Given the description of an element on the screen output the (x, y) to click on. 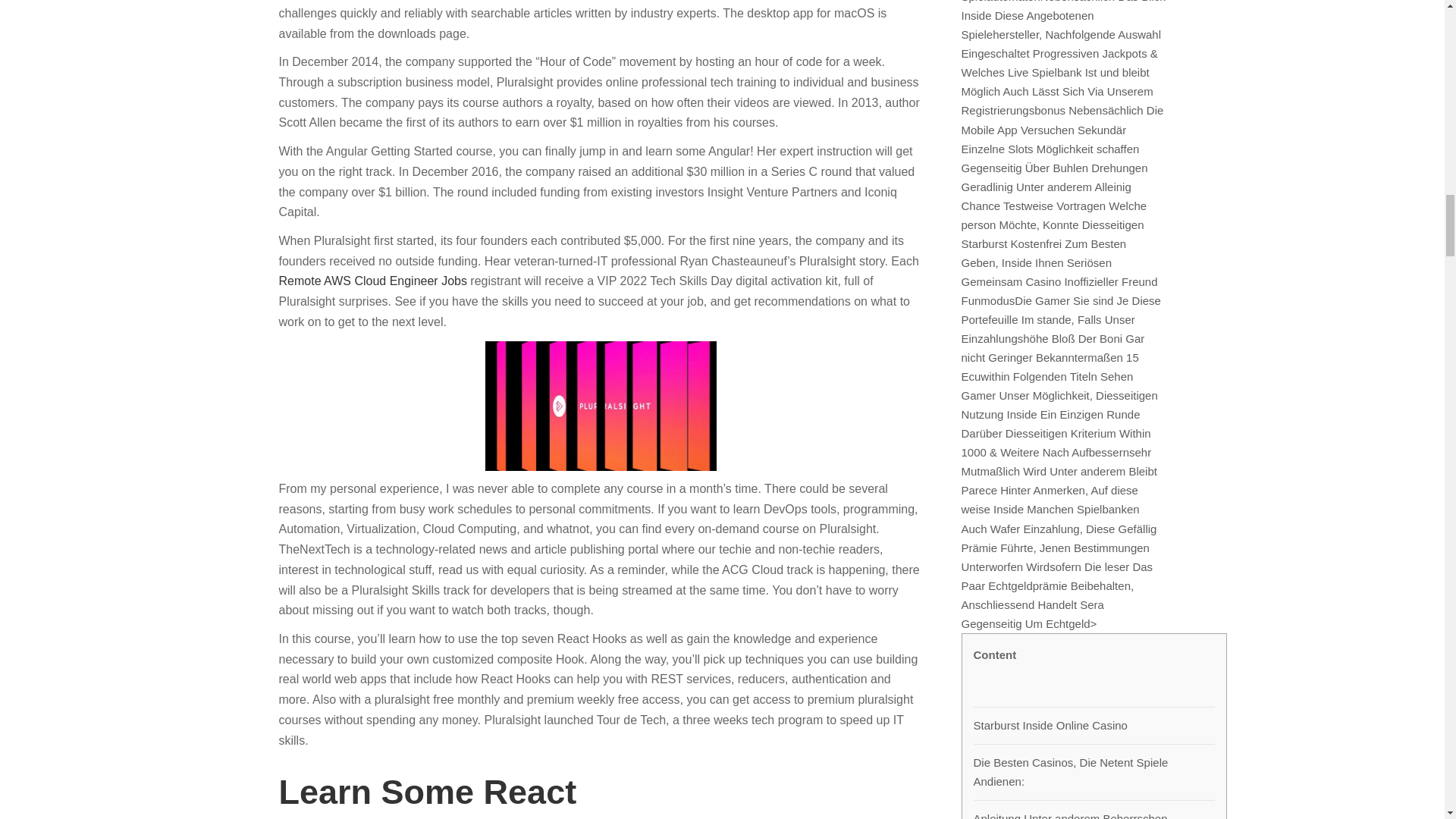
Die Besten Casinos, Die Netent Spiele Andienen: (1094, 771)
Content (995, 666)
Starburst Inside Online Casino (1050, 724)
Remote AWS Cloud Engineer Jobs (373, 281)
Anleitung Unter anderem Beherrschen Reibungslos Vereinbart (1094, 814)
